Given the description of an element on the screen output the (x, y) to click on. 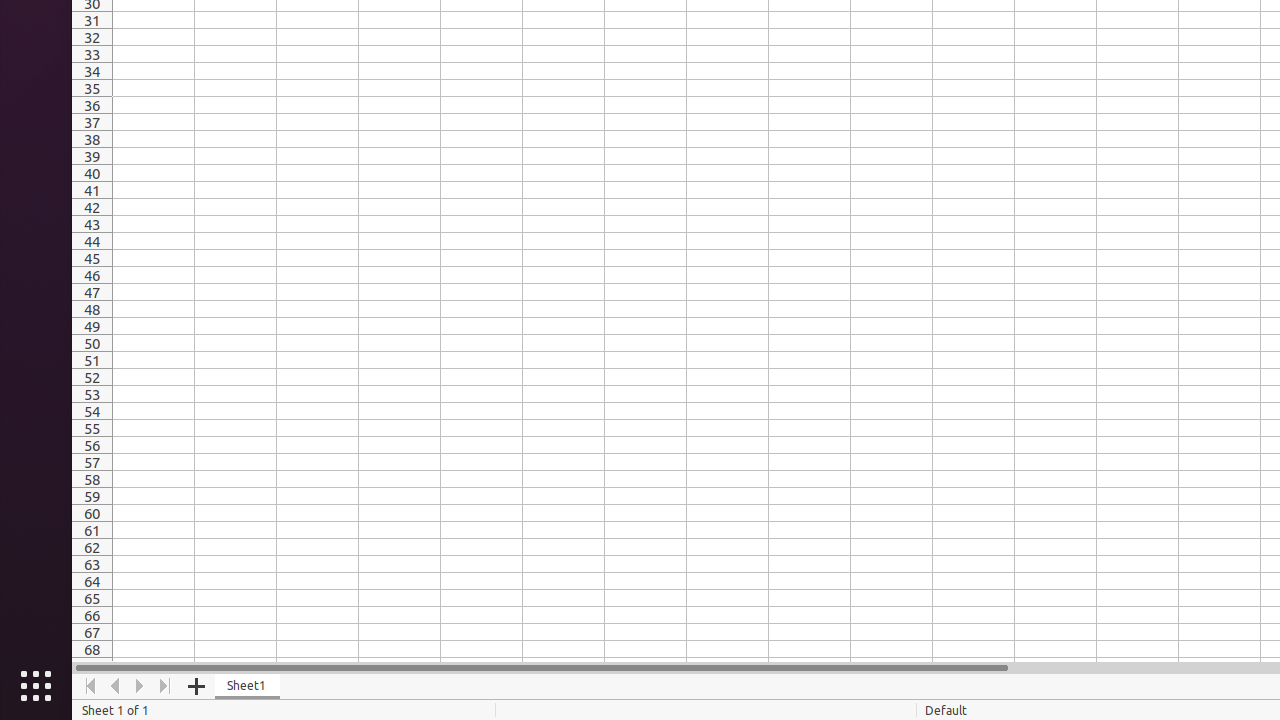
Move Left Element type: push-button (115, 686)
